Given the description of an element on the screen output the (x, y) to click on. 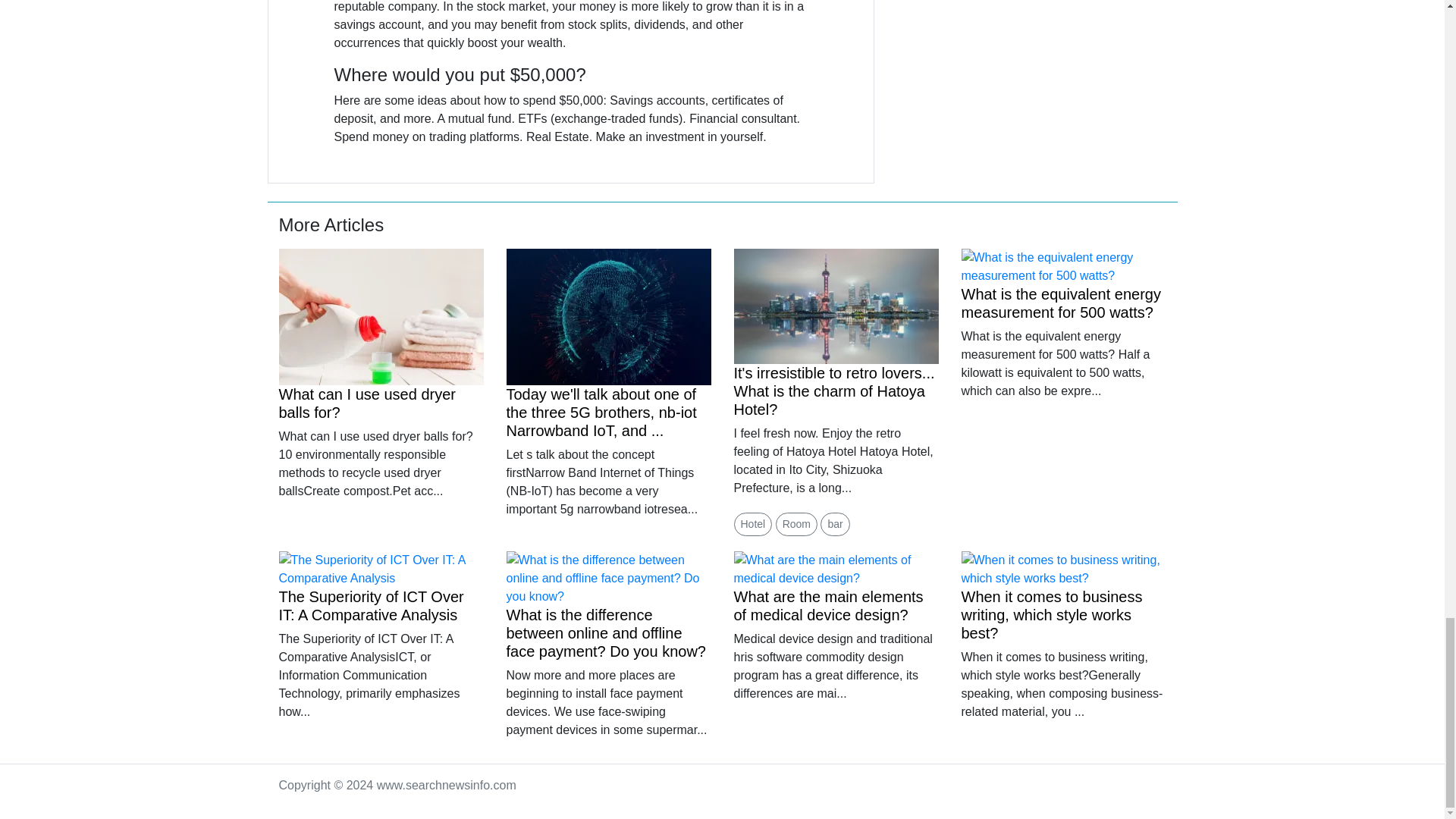
The Superiority of ICT Over IT: A Comparative Analysis (371, 605)
What can I use used dryer balls for? (367, 402)
Hotel (753, 524)
Room (796, 524)
What is the equivalent energy measurement for 500 watts? (1060, 303)
bar (834, 524)
